Given the description of an element on the screen output the (x, y) to click on. 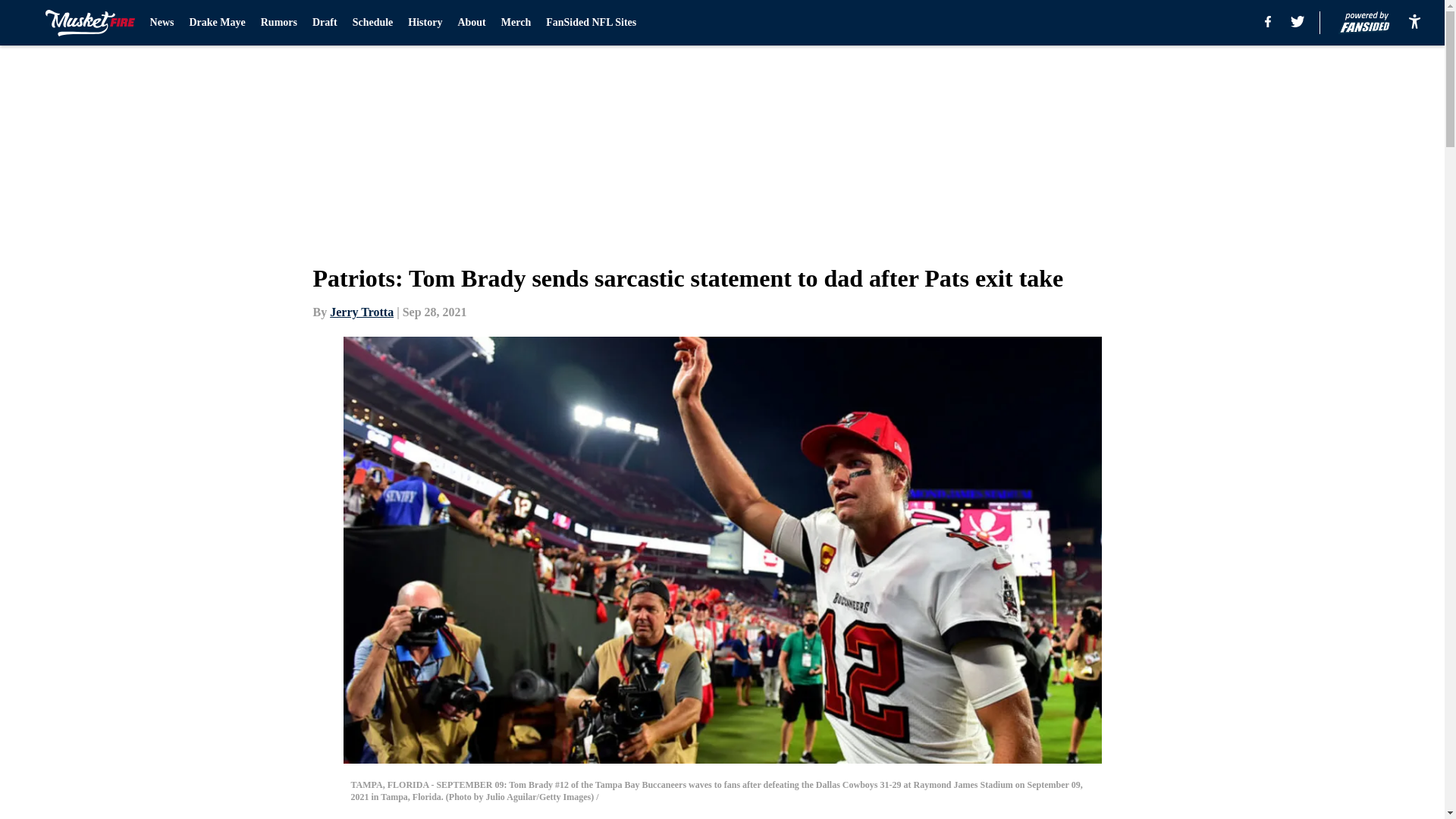
Rumors (278, 22)
Jerry Trotta (361, 311)
History (424, 22)
FanSided NFL Sites (591, 22)
Schedule (372, 22)
Merch (515, 22)
About (470, 22)
Draft (325, 22)
Drake Maye (216, 22)
News (161, 22)
